Given the description of an element on the screen output the (x, y) to click on. 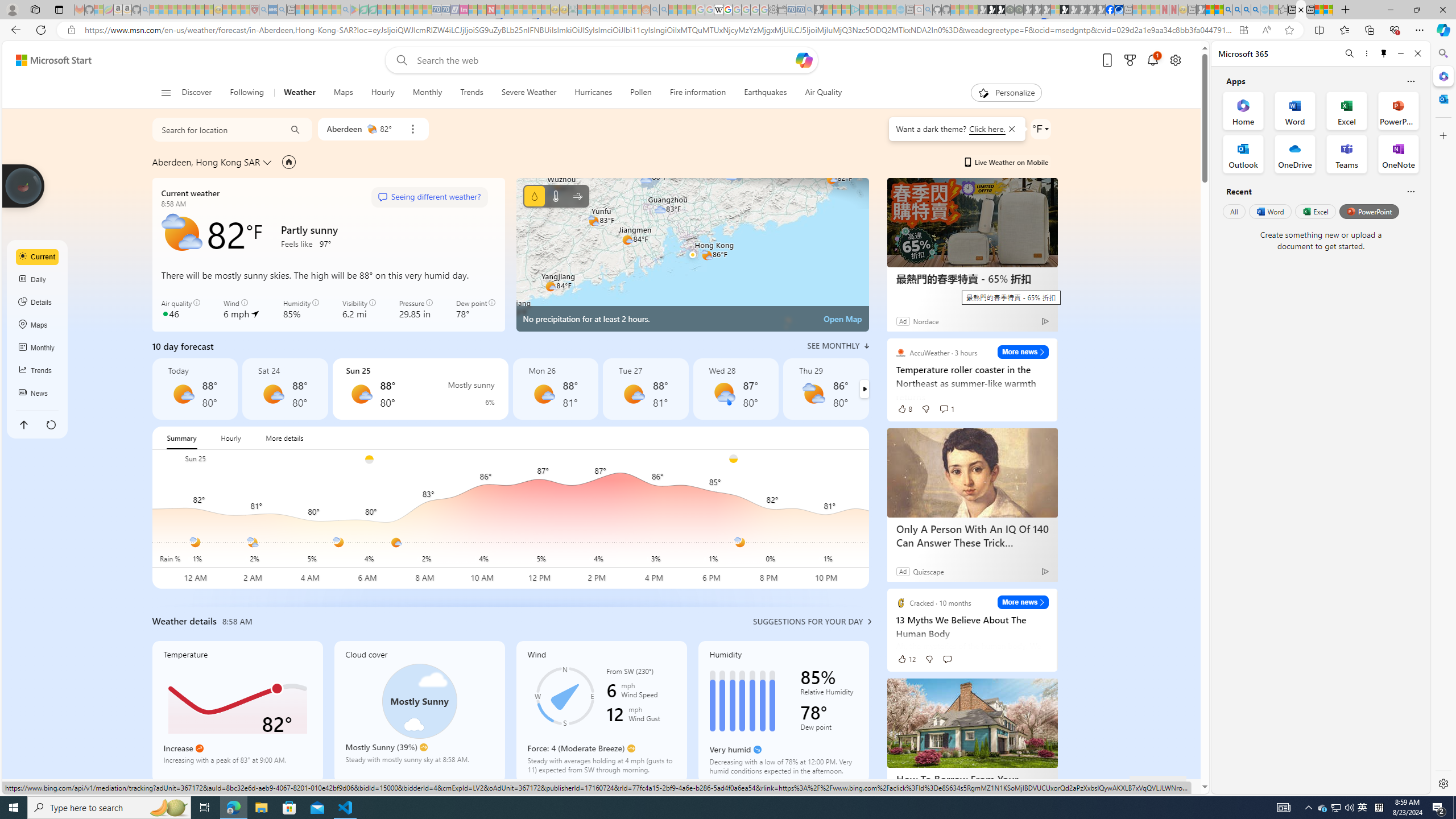
2009 Bing officially replaced Live Search on June 3 - Search (1236, 9)
Target page - Wikipedia (718, 9)
Wallet - Sleeping (782, 9)
Humidity 85% (301, 309)
Steady with mostly sunny sky at 8:58 AM. (419, 764)
Visibility 6.2 mi (358, 309)
Wind 6 mph (241, 309)
